Given the description of an element on the screen output the (x, y) to click on. 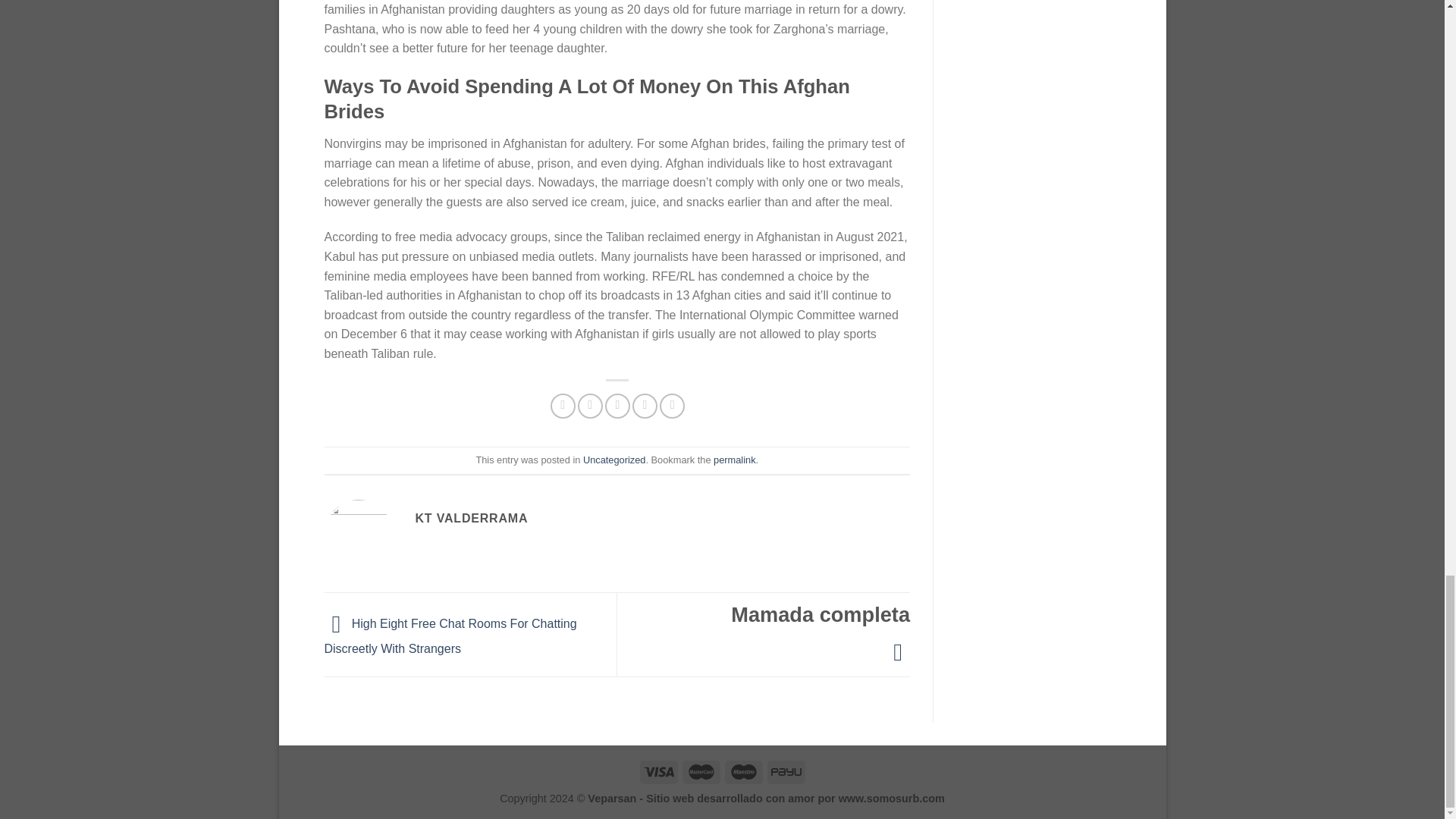
Pin on Pinterest (644, 405)
Share on LinkedIn (671, 405)
Email to a Friend (617, 405)
Share on Twitter (590, 405)
Share on Facebook (562, 405)
